Given the description of an element on the screen output the (x, y) to click on. 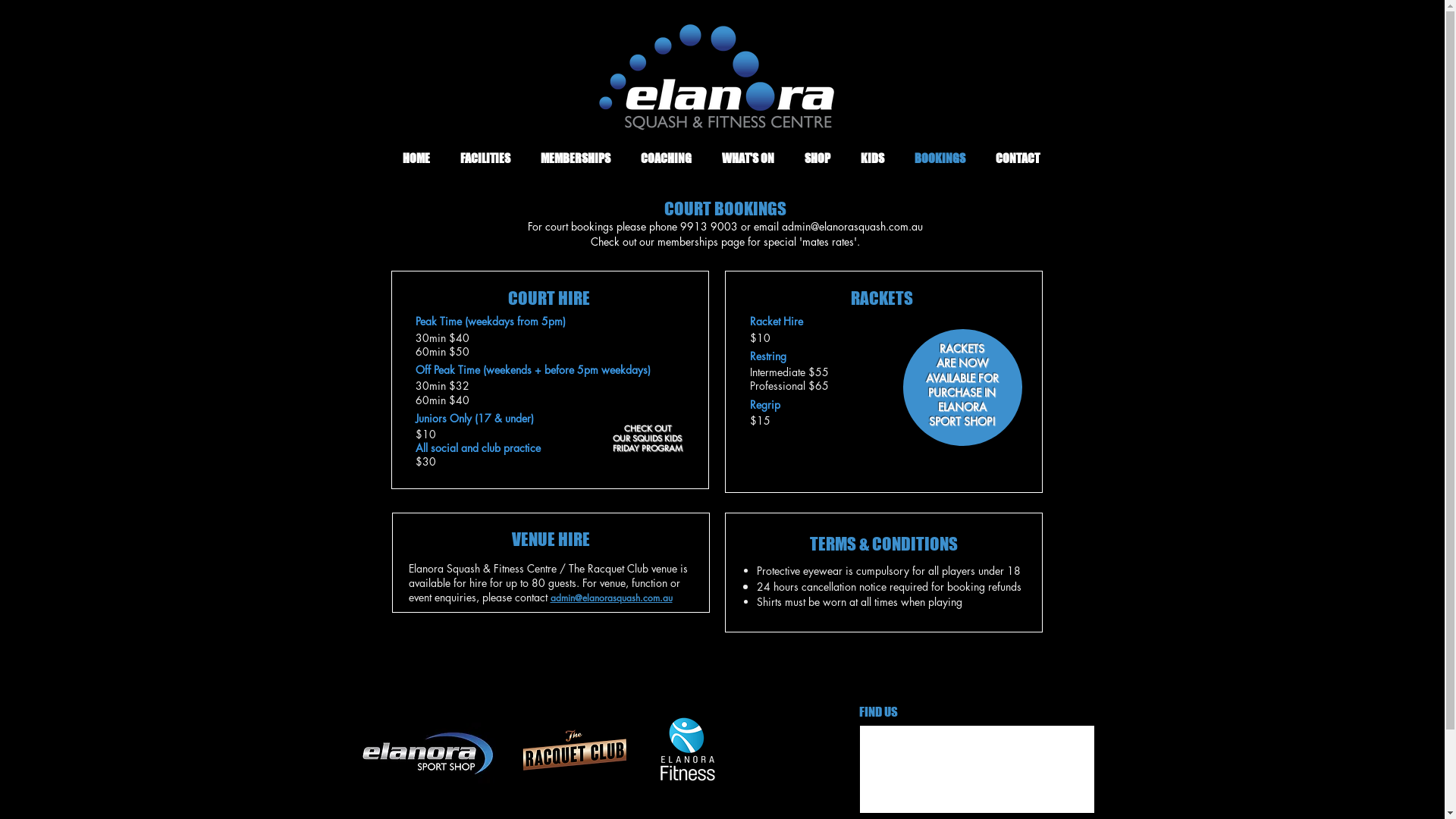
Elanora-Sports-Shop.jpg Element type: hover (425, 754)
admin@elanorasquash.com.au Element type: text (611, 597)
admin@elanorasquash.com.au Element type: text (851, 226)
SHOP Element type: text (816, 158)
FACILITIES Element type: text (484, 158)
KIDS Element type: text (871, 158)
CONTACT Element type: text (1016, 158)
BOOKINGS Element type: text (939, 158)
WHAT'S ON Element type: text (747, 158)
HOME Element type: text (415, 158)
Elanora-Squash-Logo.png Element type: hover (712, 77)
COACHING Element type: text (665, 158)
MEMBERSHIPS Element type: text (574, 158)
